Given the description of an element on the screen output the (x, y) to click on. 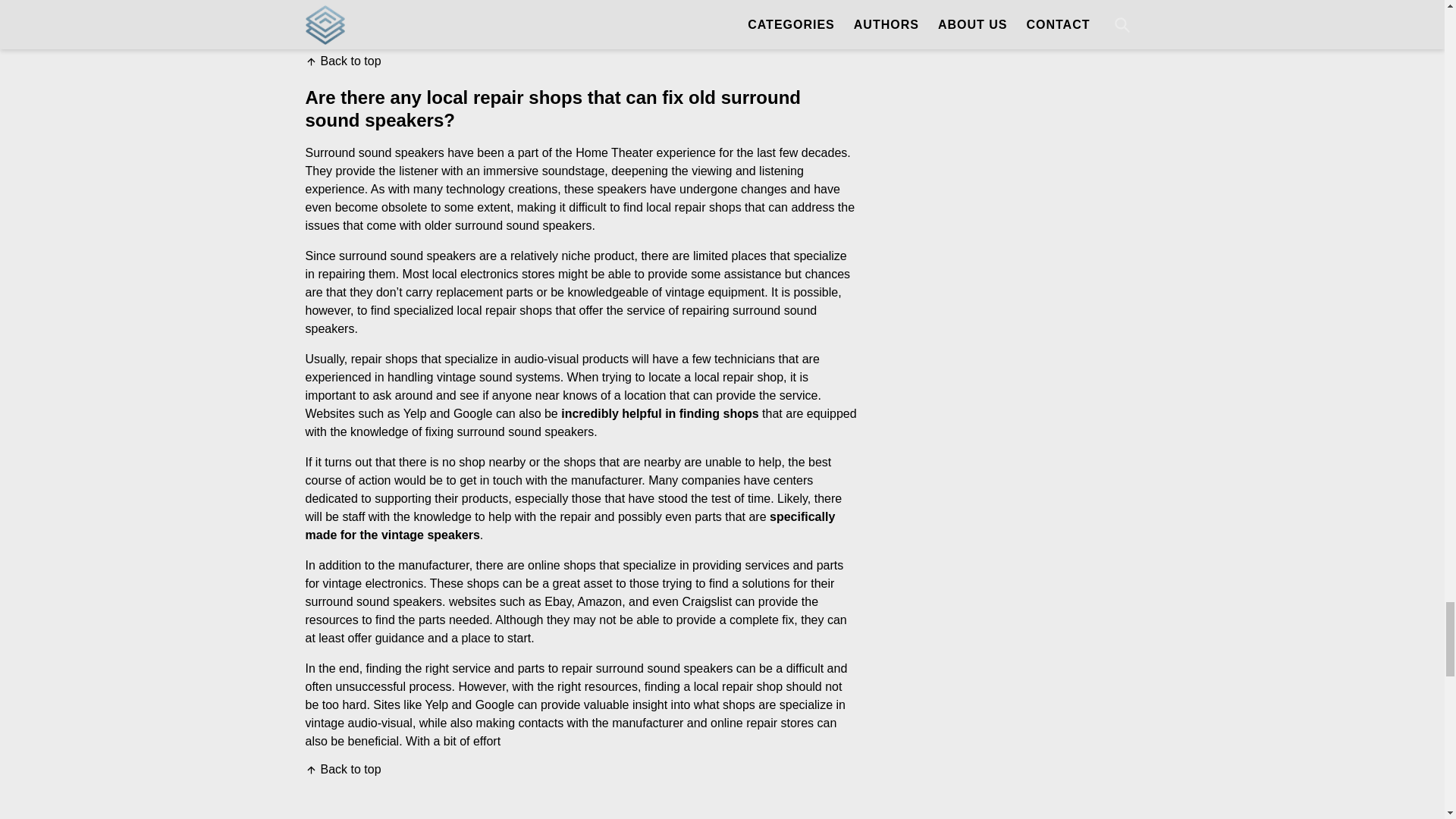
Back to top (342, 60)
Back to top (342, 769)
